Given the description of an element on the screen output the (x, y) to click on. 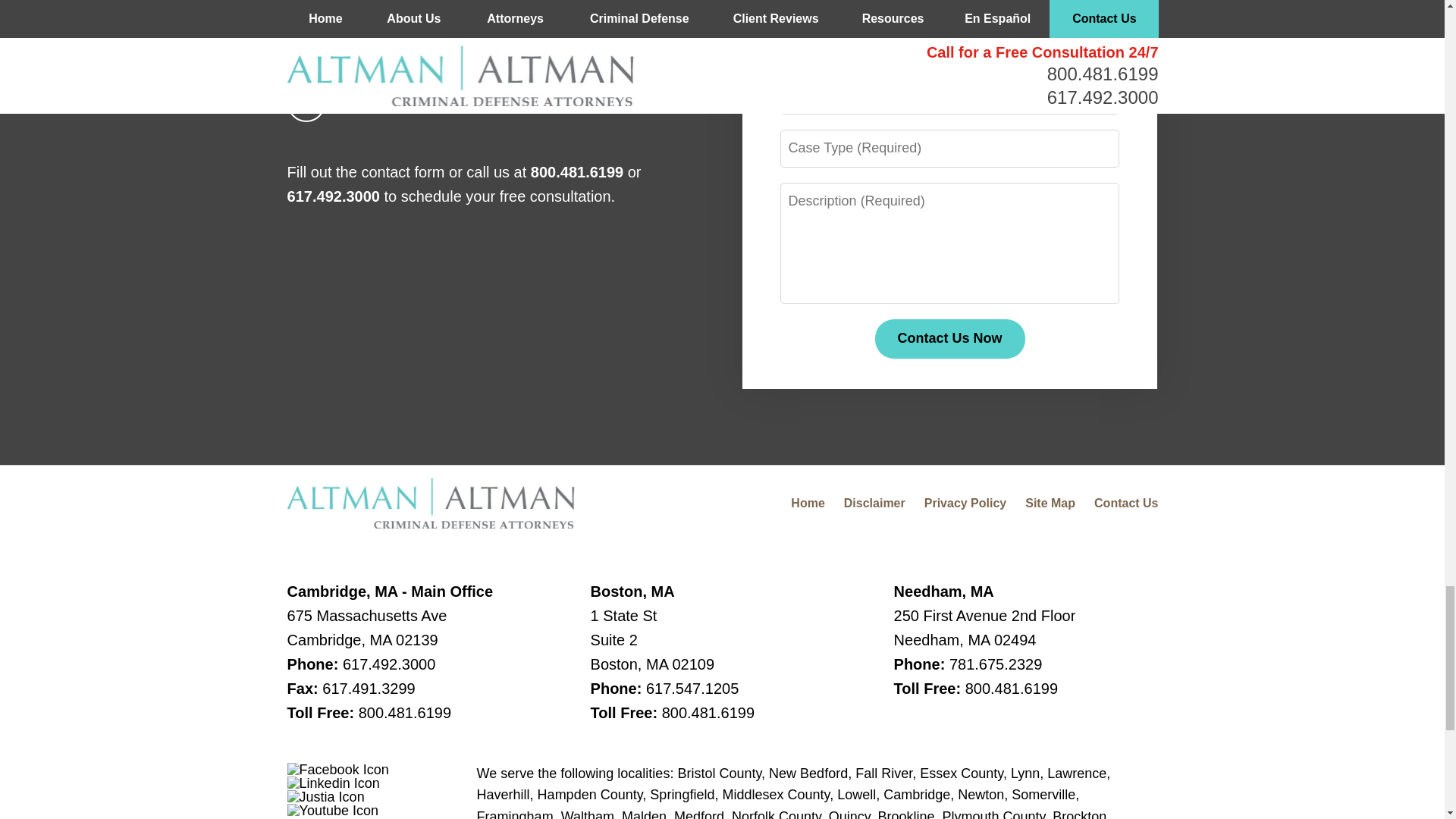
Facebook (337, 769)
Justia (325, 796)
Youtube (332, 810)
Linkedin (333, 783)
